Given the description of an element on the screen output the (x, y) to click on. 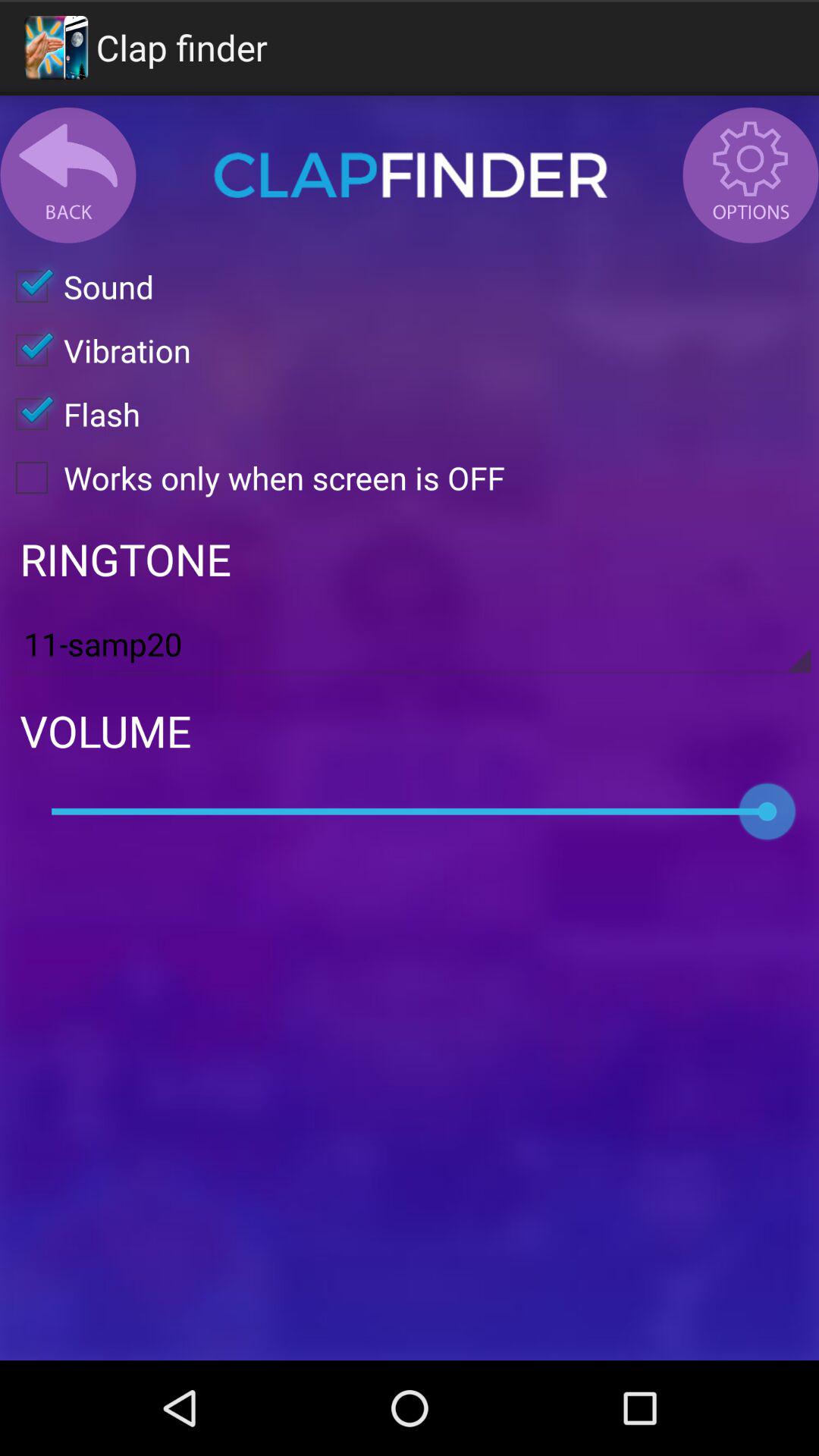
turn off the checkbox above flash (95, 350)
